Given the description of an element on the screen output the (x, y) to click on. 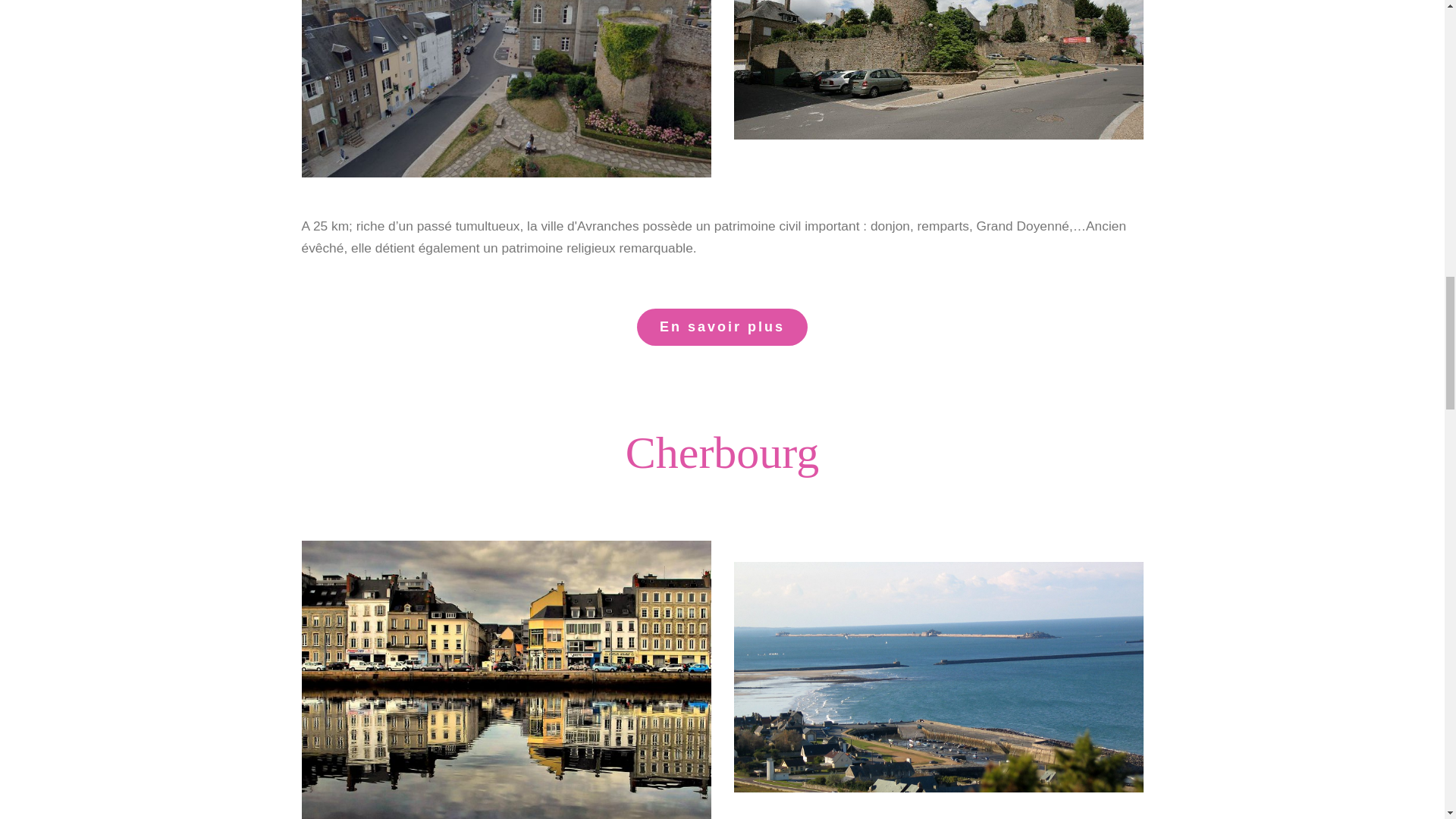
En savoir plus (722, 326)
